Given the description of an element on the screen output the (x, y) to click on. 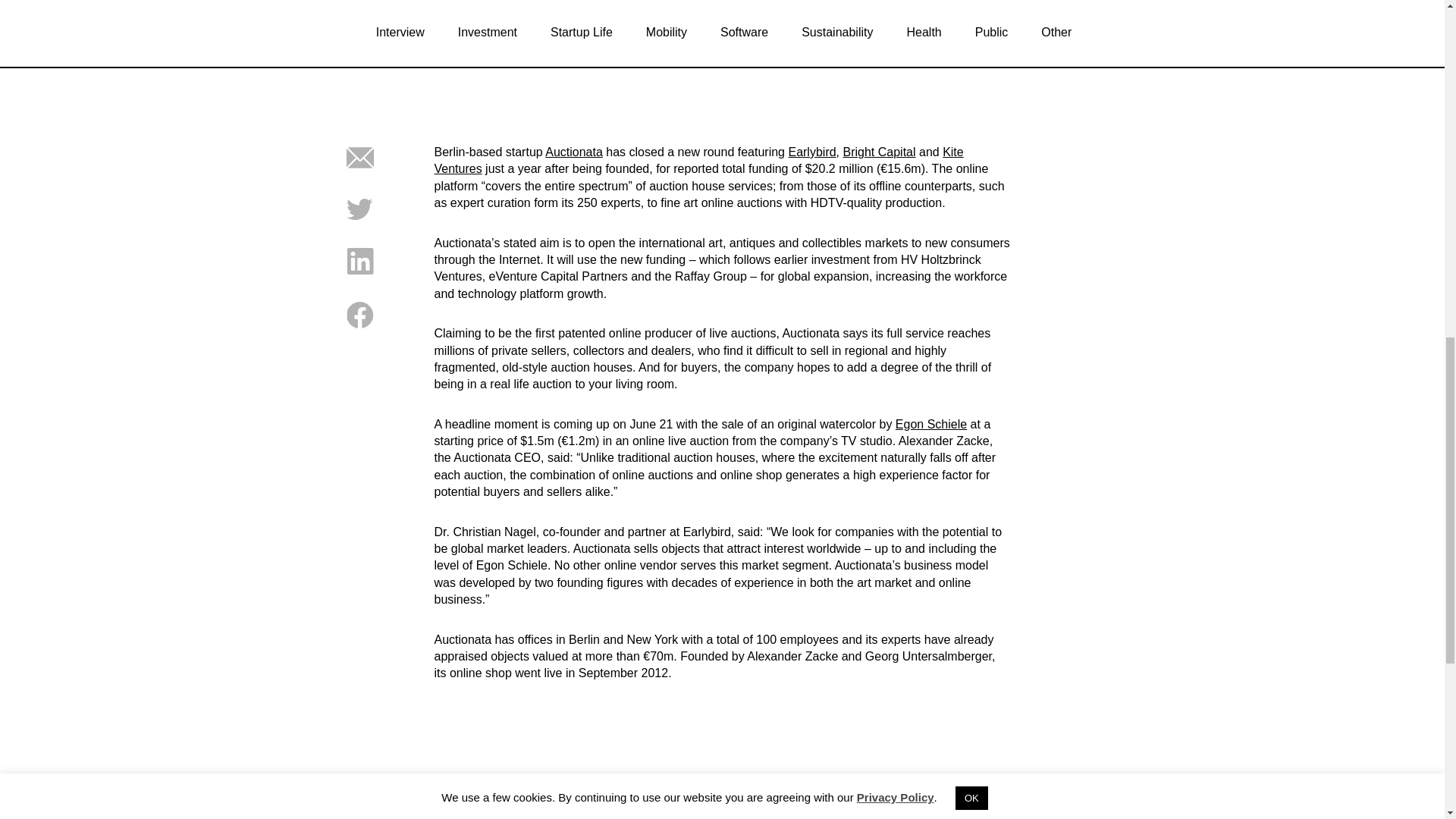
Egon Schiele (930, 423)
Bright Capital (879, 151)
Auctionata (573, 151)
Earlybird (811, 151)
Share by Email (359, 166)
Kite Ventures (697, 160)
